Given the description of an element on the screen output the (x, y) to click on. 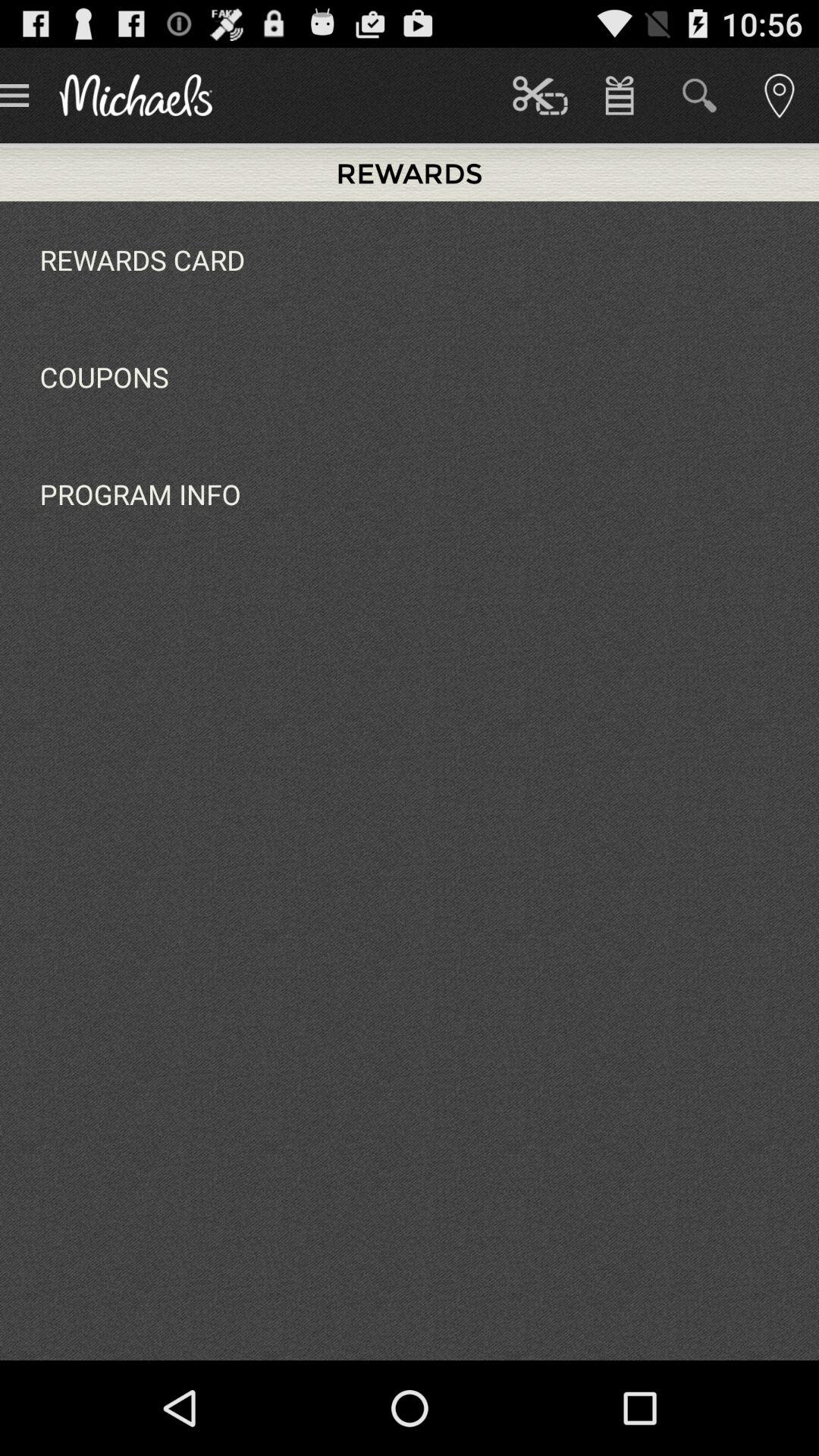
select the icon above coupons item (142, 259)
